Given the description of an element on the screen output the (x, y) to click on. 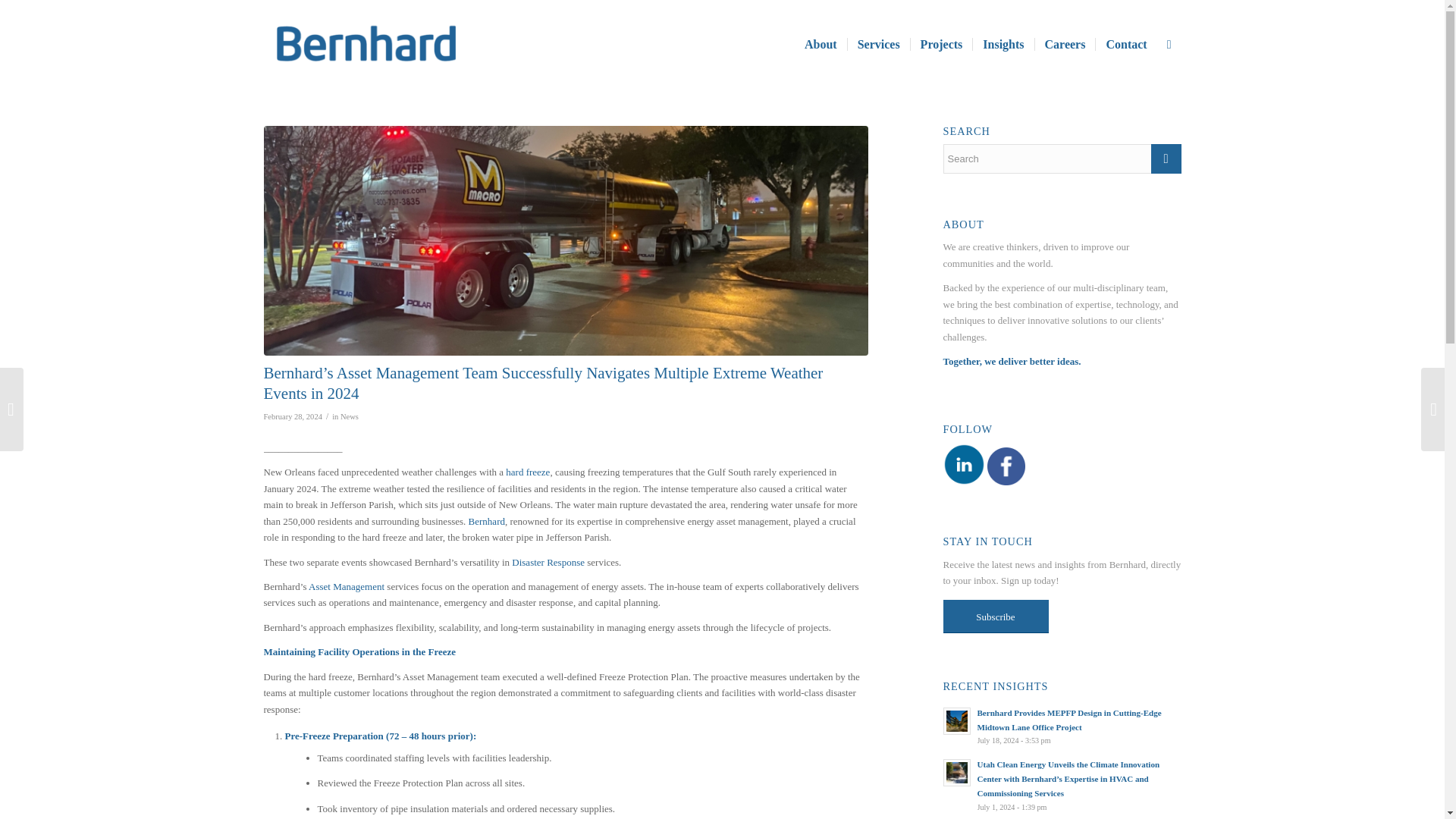
Disaster Response (548, 562)
Projects (941, 44)
Services (878, 44)
hard freeze (527, 471)
About (820, 44)
Insights (1002, 44)
Bernhard (486, 521)
Contact (1125, 44)
Careers (1064, 44)
News (349, 416)
Asset Management (346, 586)
